Given the description of an element on the screen output the (x, y) to click on. 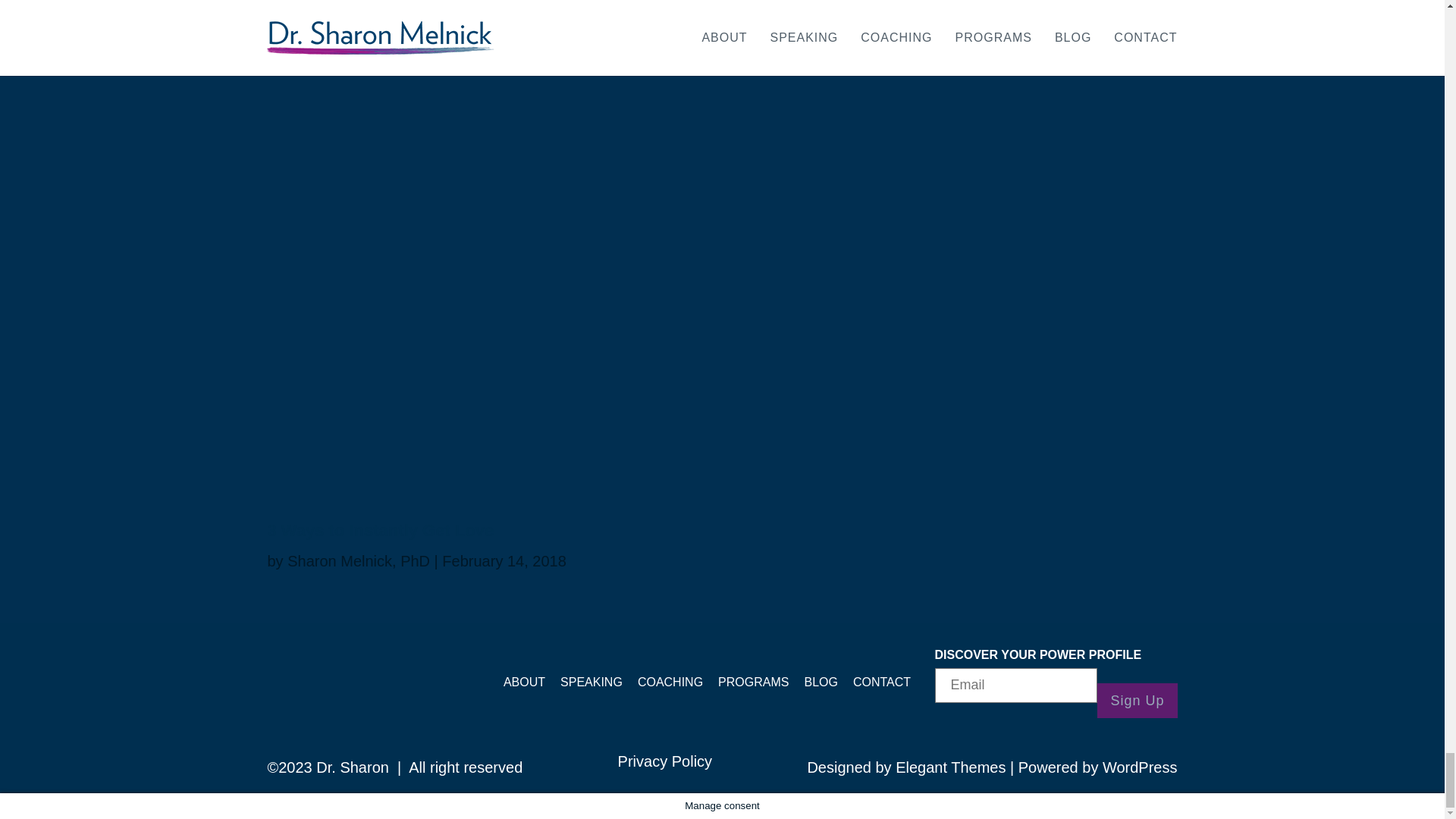
BLOG (820, 681)
SPEAKING (591, 681)
COACHING (670, 681)
Sign up (1136, 700)
PROGRAMS (753, 681)
3 Ways to Instantly Get Love (379, 529)
ABOUT (523, 681)
